Given the description of an element on the screen output the (x, y) to click on. 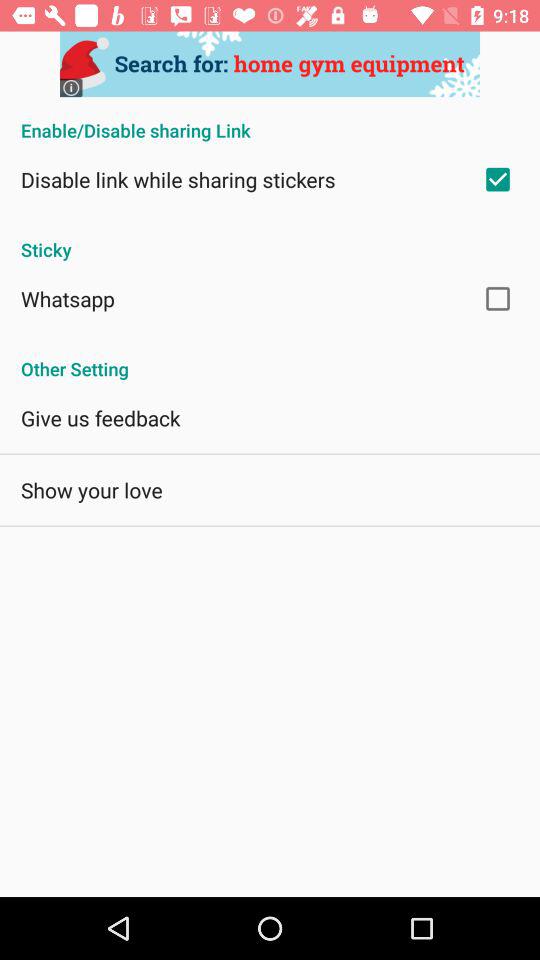
turn off item above the enable disable sharing app (270, 64)
